Given the description of an element on the screen output the (x, y) to click on. 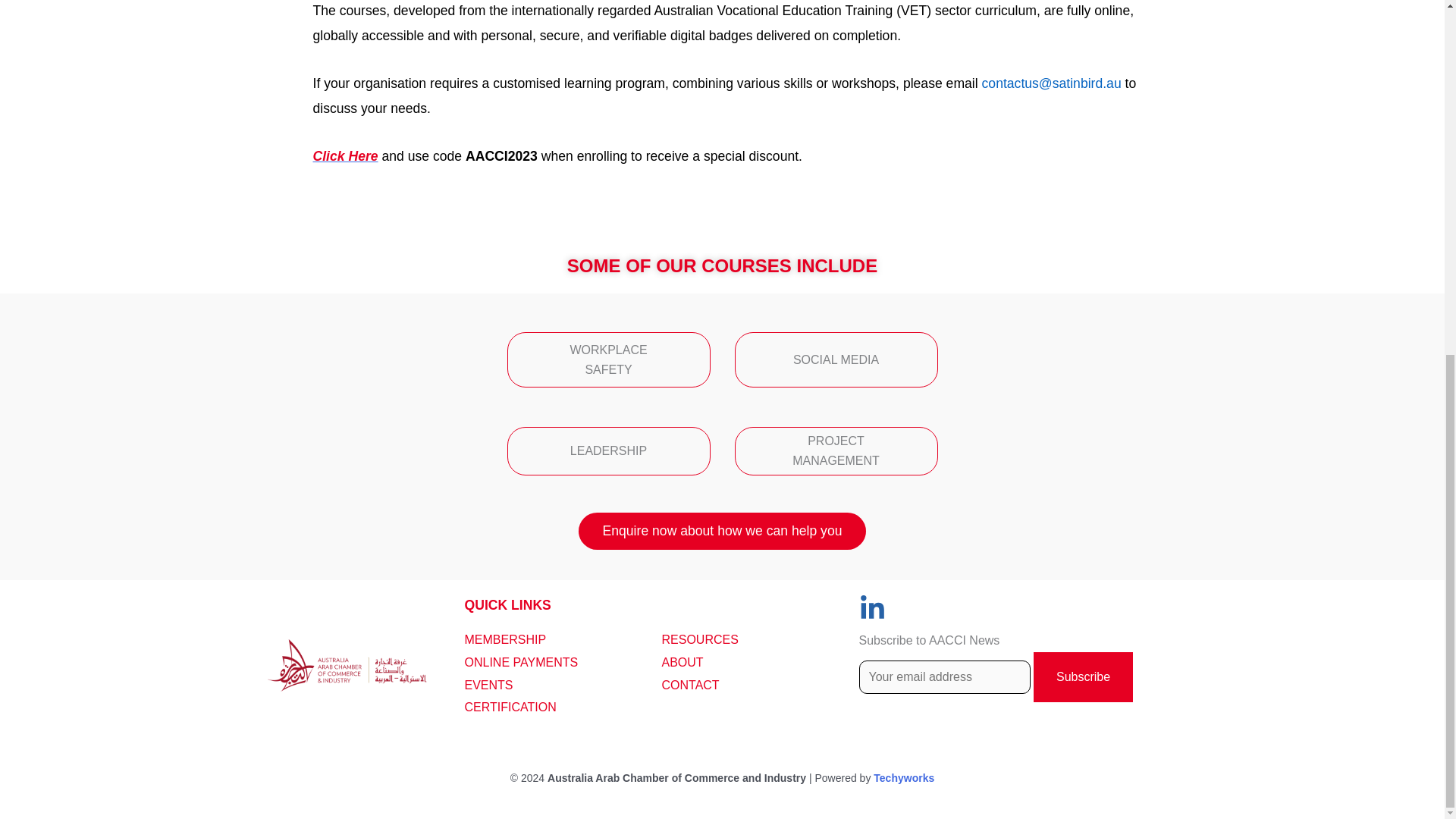
Subscribe (1082, 676)
